Given the description of an element on the screen output the (x, y) to click on. 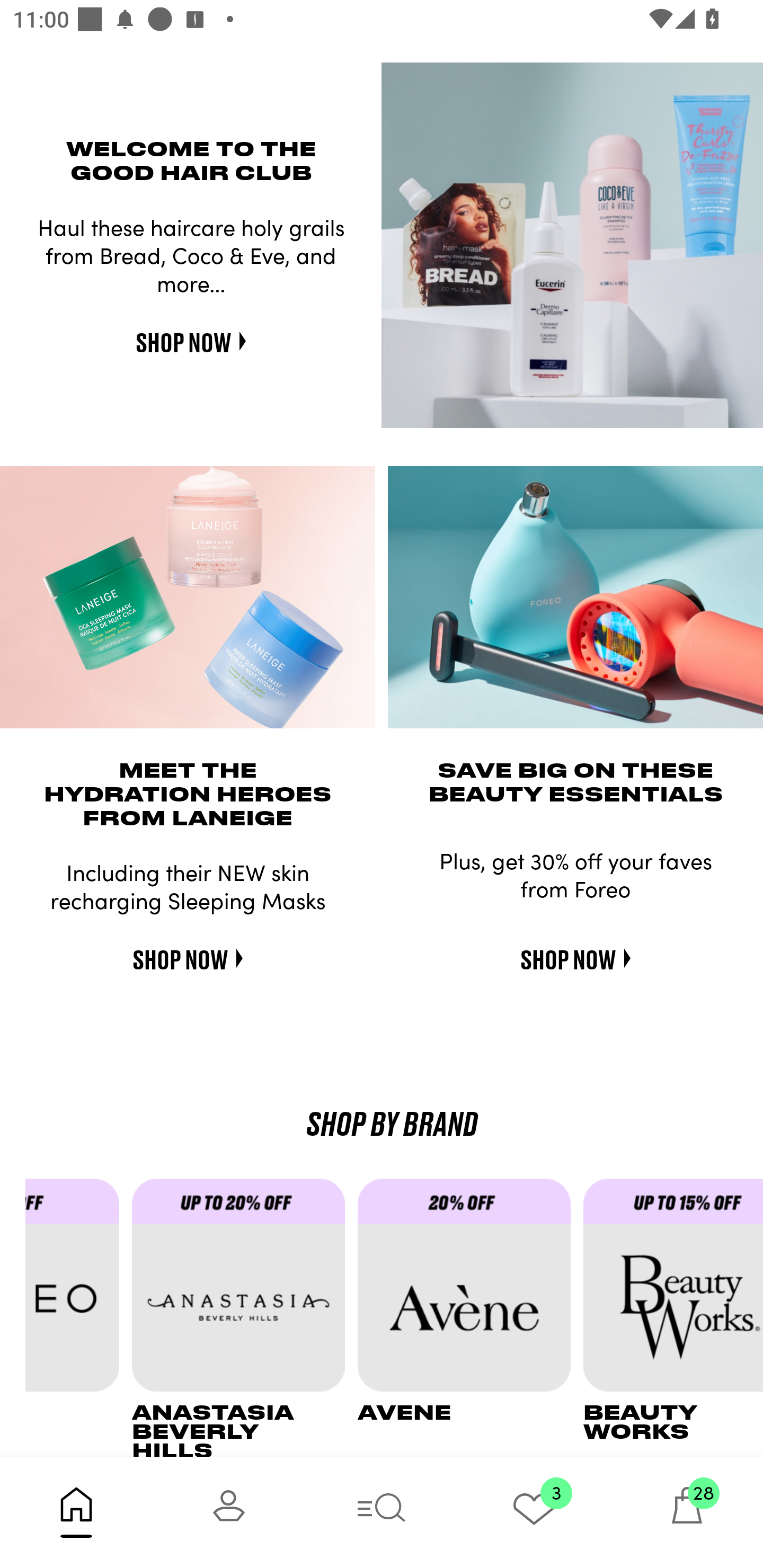
ANASTASIA BEVERLY HILLS (244, 1317)
AVÈNE (470, 1317)
BEAUTY WORKS (673, 1317)
3 (533, 1512)
28 (686, 1512)
